Given the description of an element on the screen output the (x, y) to click on. 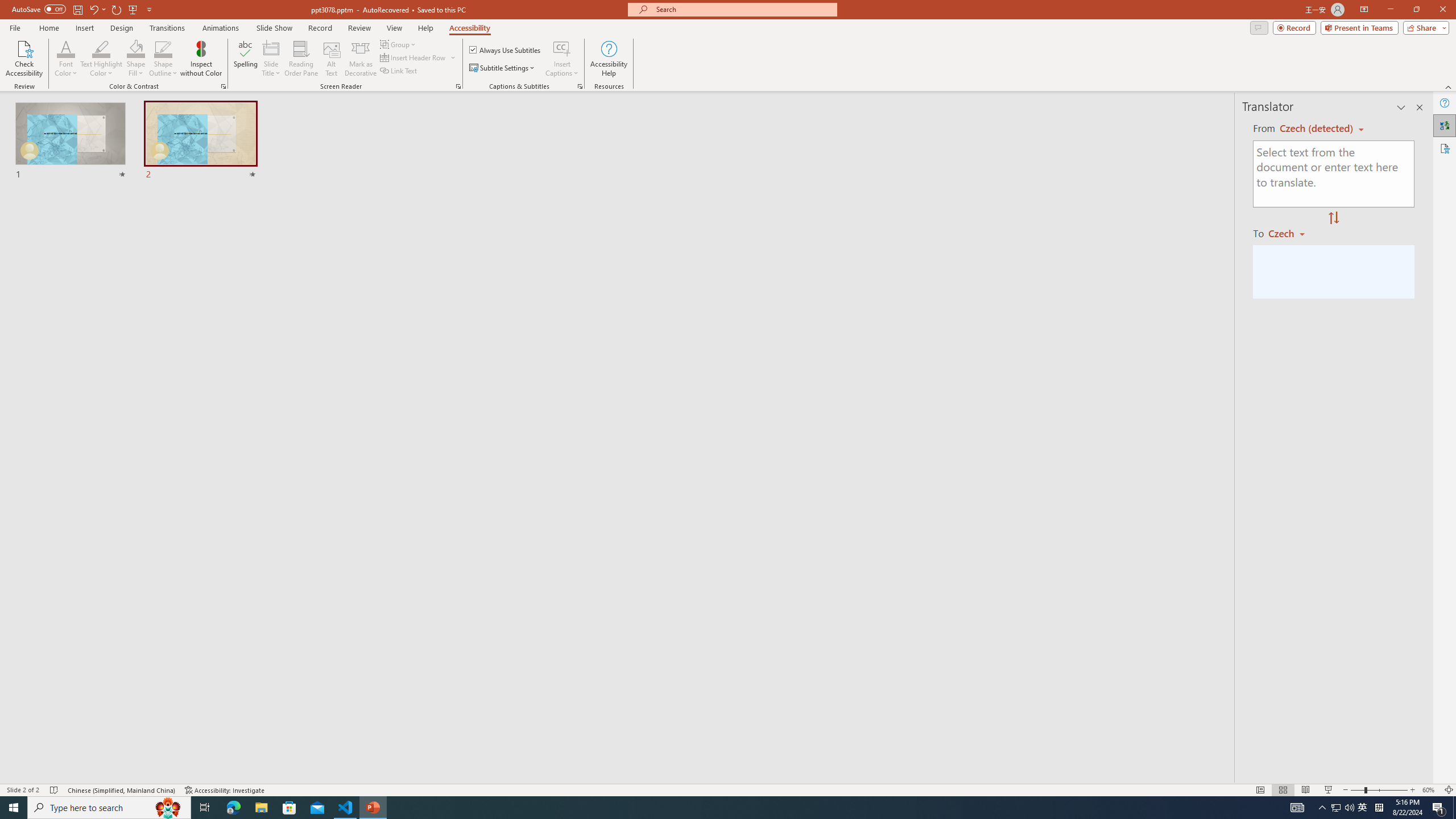
Captions & Subtitles (580, 85)
